Given the description of an element on the screen output the (x, y) to click on. 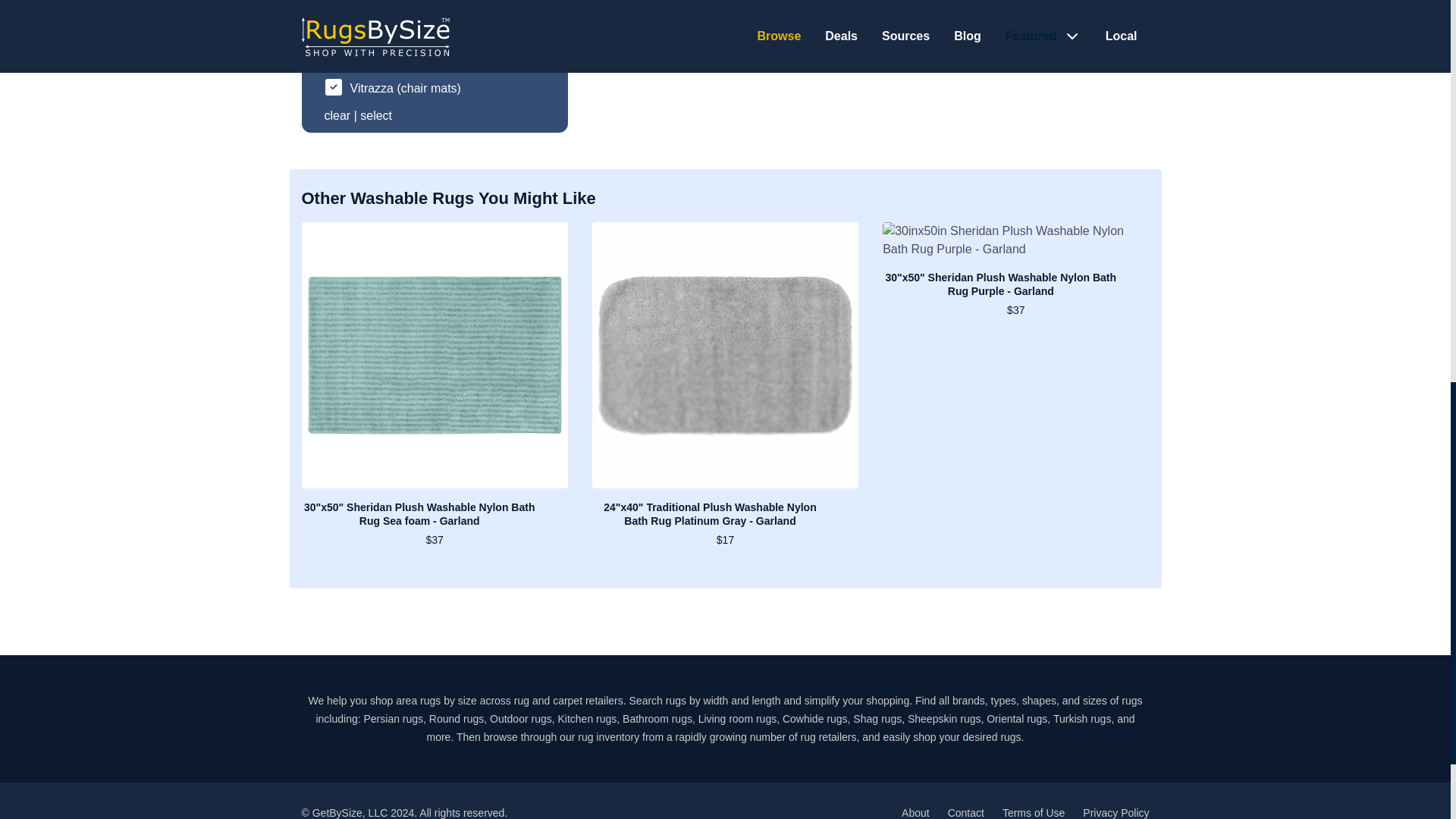
select (375, 115)
Contact (965, 812)
clear (337, 115)
Terms of Use (1033, 812)
Privacy Policy (1115, 812)
About (915, 812)
